Given the description of an element on the screen output the (x, y) to click on. 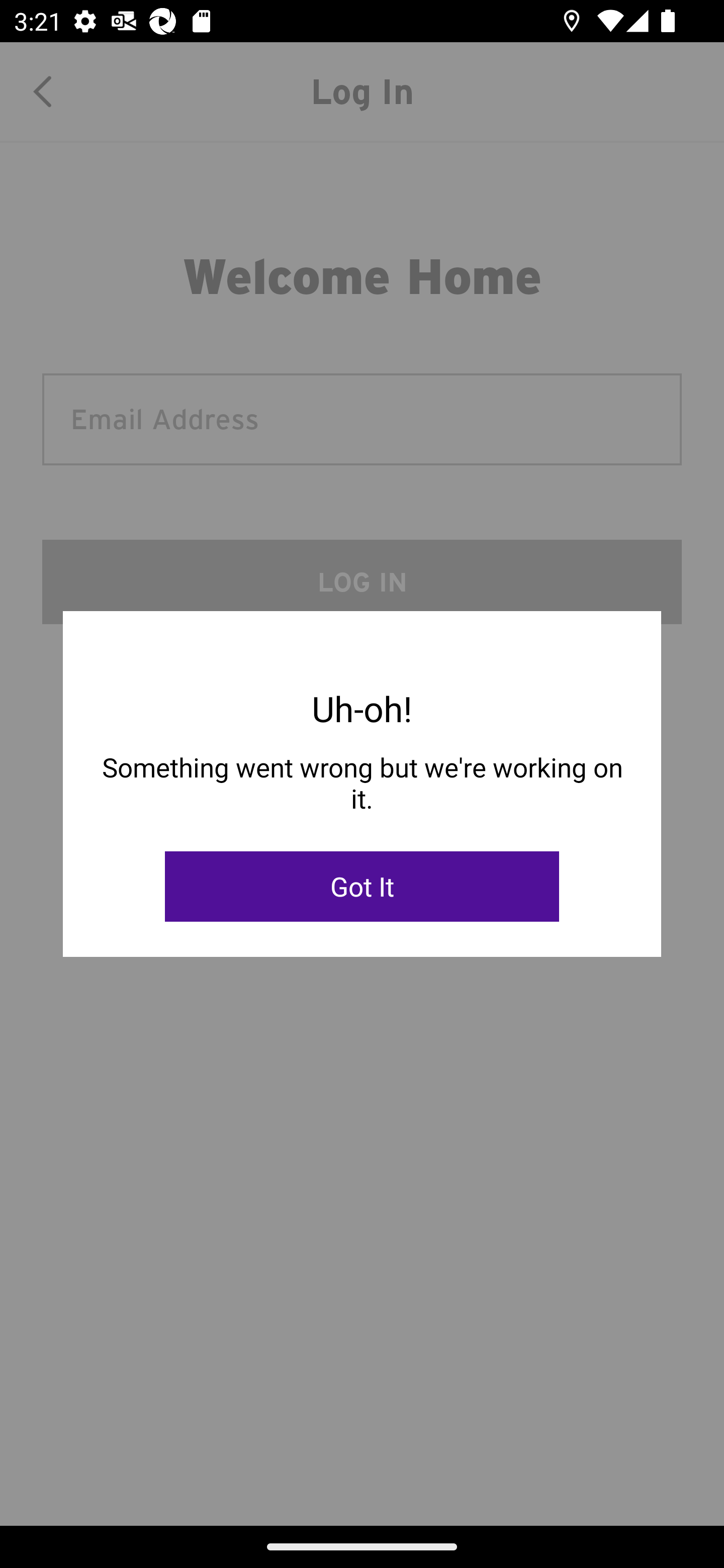
Got It (361, 886)
